Given the description of an element on the screen output the (x, y) to click on. 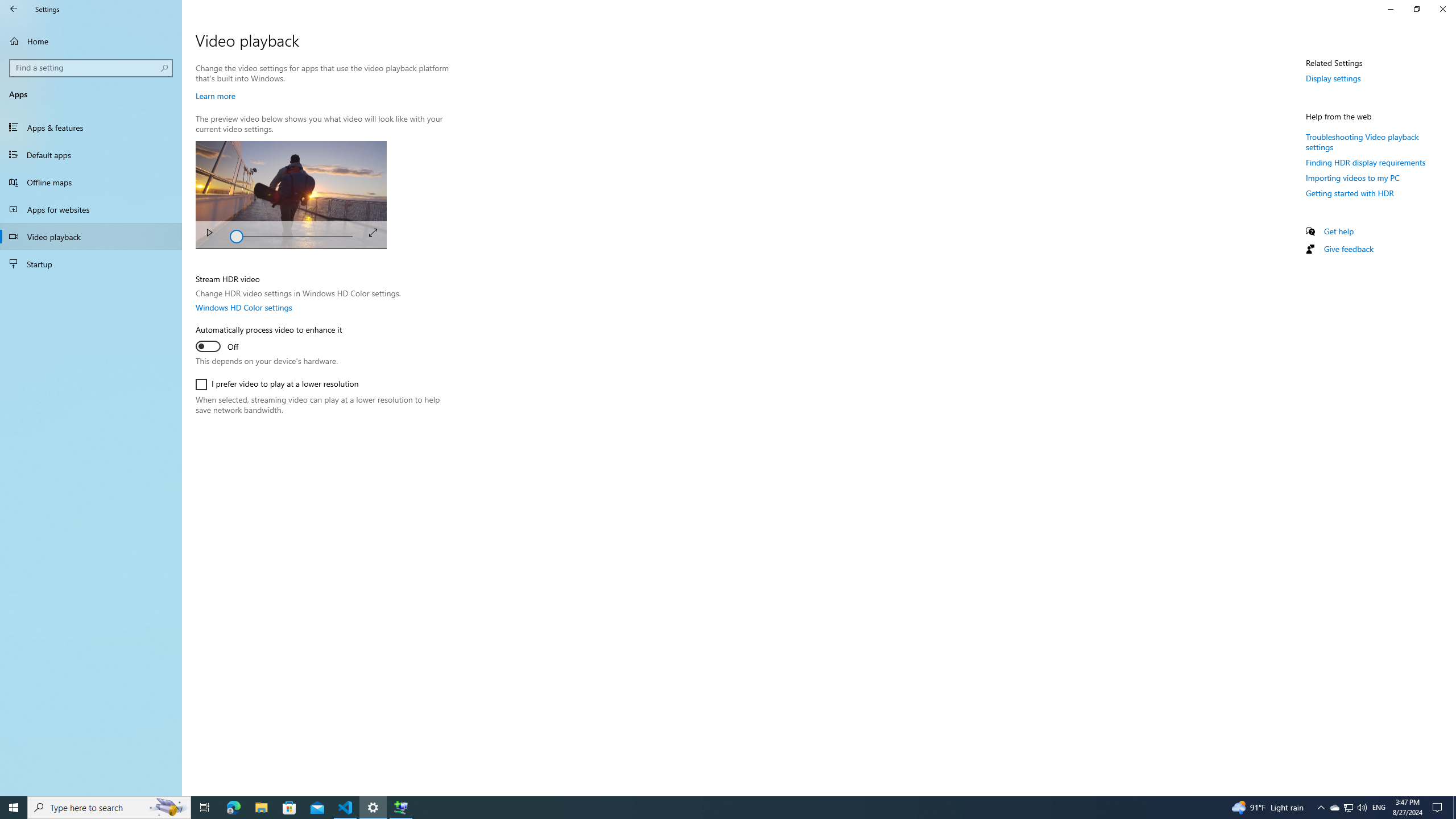
Apps & features (91, 126)
Default apps (91, 154)
Windows HD Color settings (243, 307)
Automatically process video to enhance it (268, 339)
Search box, Find a setting (91, 67)
Offline maps (91, 181)
